Given the description of an element on the screen output the (x, y) to click on. 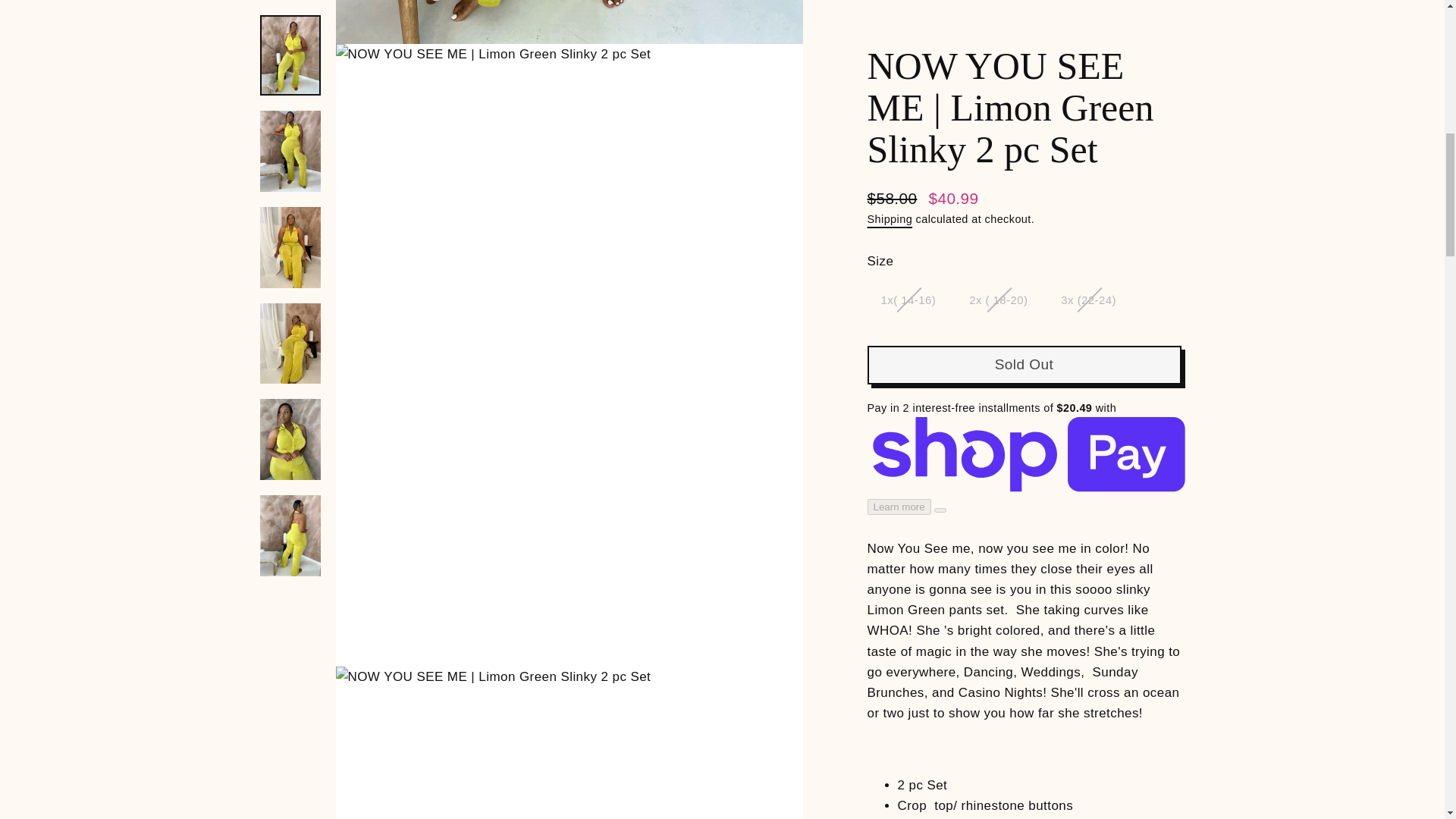
Pin on Pinterest (1103, 589)
Share on Facebook (952, 589)
Tweet on Twitter (1028, 589)
MENU (162, 46)
